Given the description of an element on the screen output the (x, y) to click on. 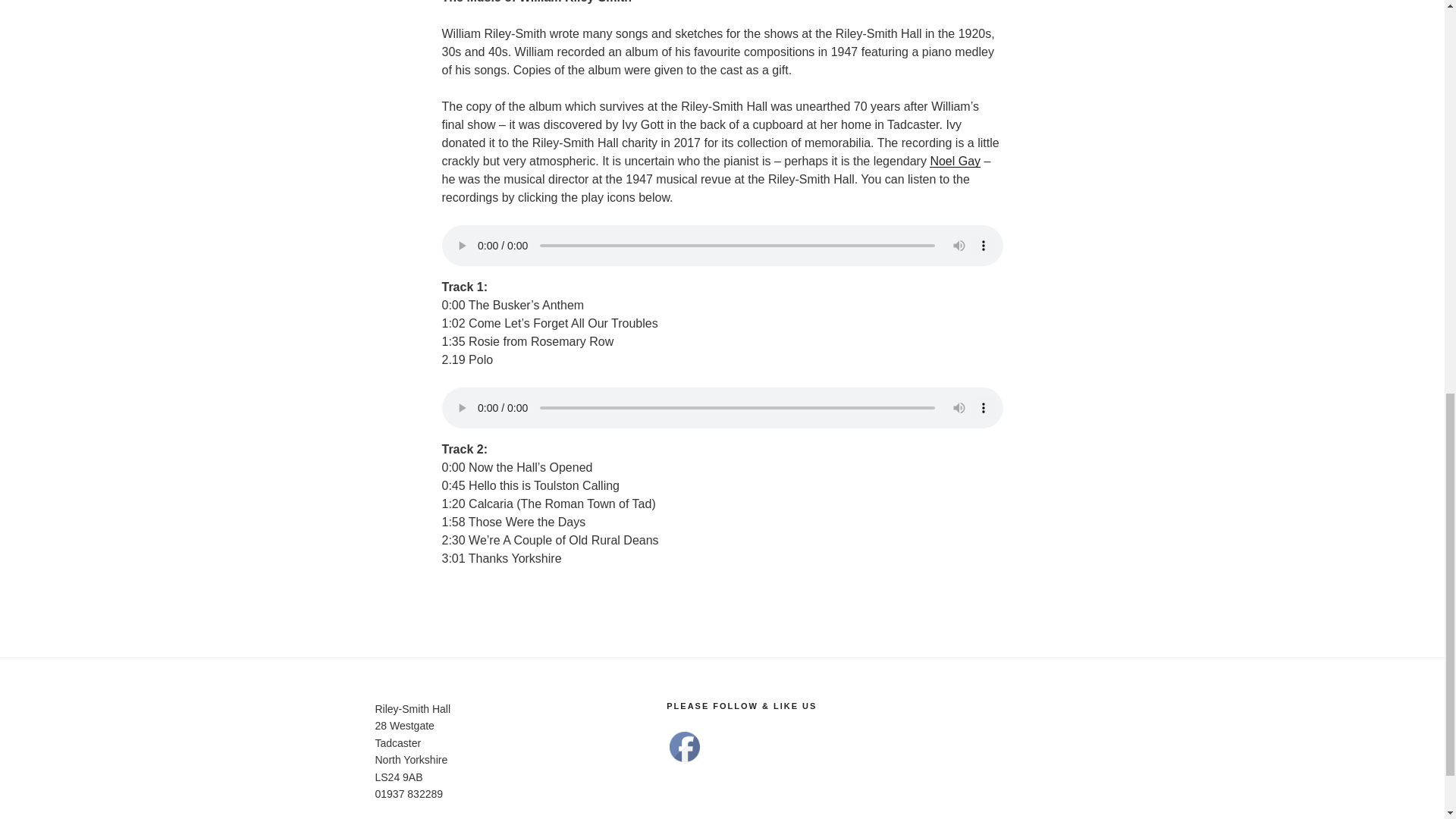
Noel Gay (954, 160)
Facebook (684, 747)
